Given the description of an element on the screen output the (x, y) to click on. 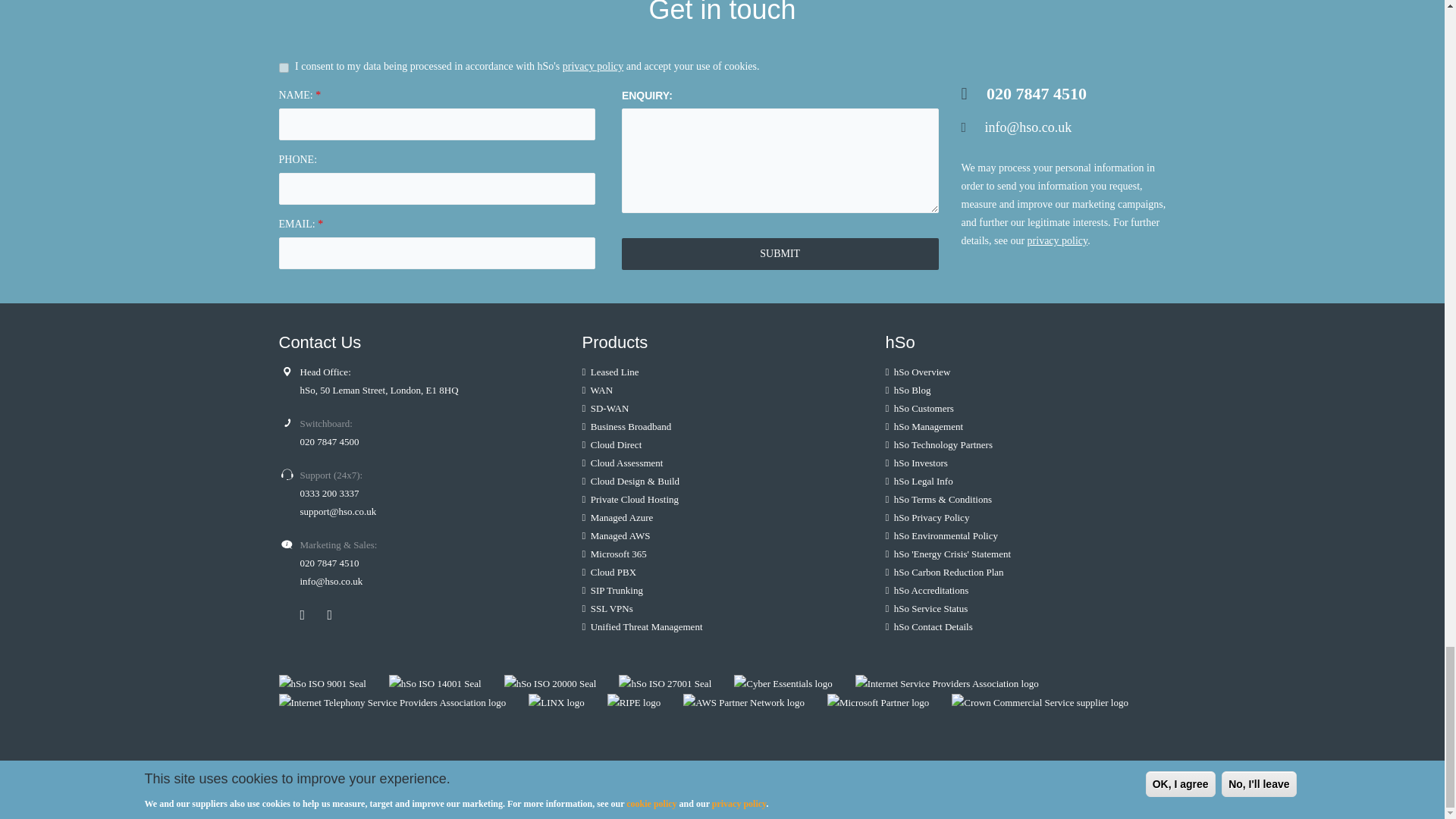
SUBMIT (780, 254)
